Given the description of an element on the screen output the (x, y) to click on. 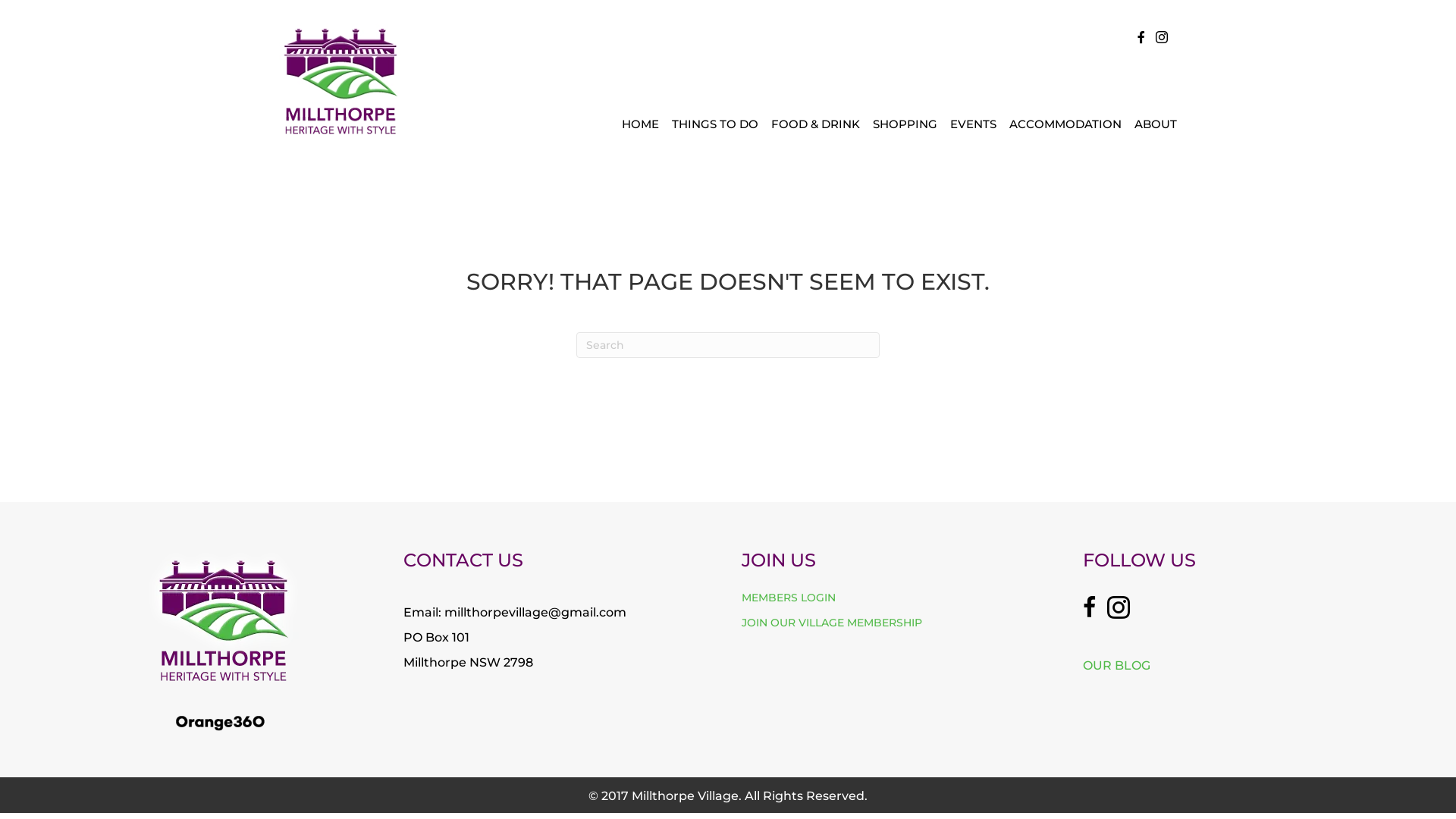
EVENTS Element type: text (973, 123)
OUR BLOG Element type: text (1116, 665)
ACCOMMODATION Element type: text (1065, 123)
MEMBERS LOGIN Element type: text (788, 597)
THINGS TO DO Element type: text (714, 123)
ABOUT Element type: text (1155, 123)
logo Element type: hover (223, 615)
JOIN OUR VILLAGE MEMBERSHIP Element type: text (831, 622)
logo-header Element type: hover (219, 722)
logo-160x149 Element type: hover (339, 79)
HOME Element type: text (640, 123)
Type and press Enter to search. Element type: hover (727, 344)
FOOD & DRINK Element type: text (815, 123)
SHOPPING Element type: text (904, 123)
